Given the description of an element on the screen output the (x, y) to click on. 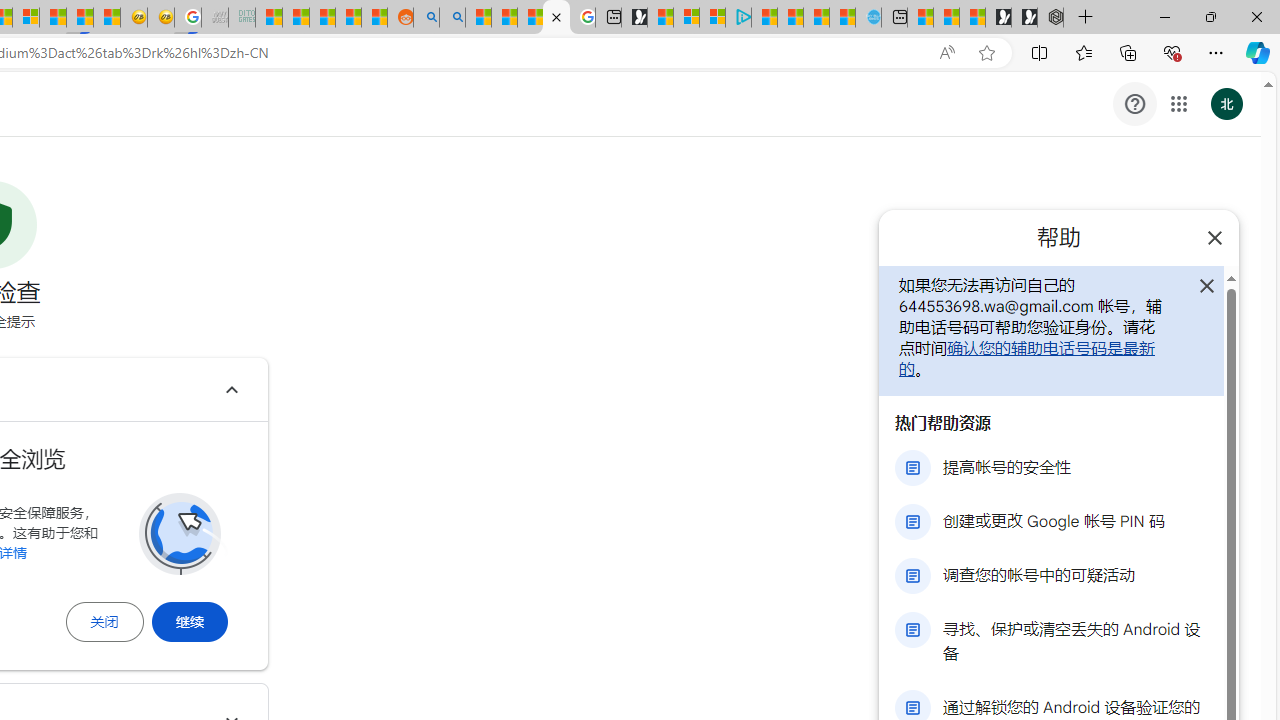
Utah sues federal government - Search (452, 17)
Student Loan Update: Forgiveness Program Ends This Month (347, 17)
